Given the description of an element on the screen output the (x, y) to click on. 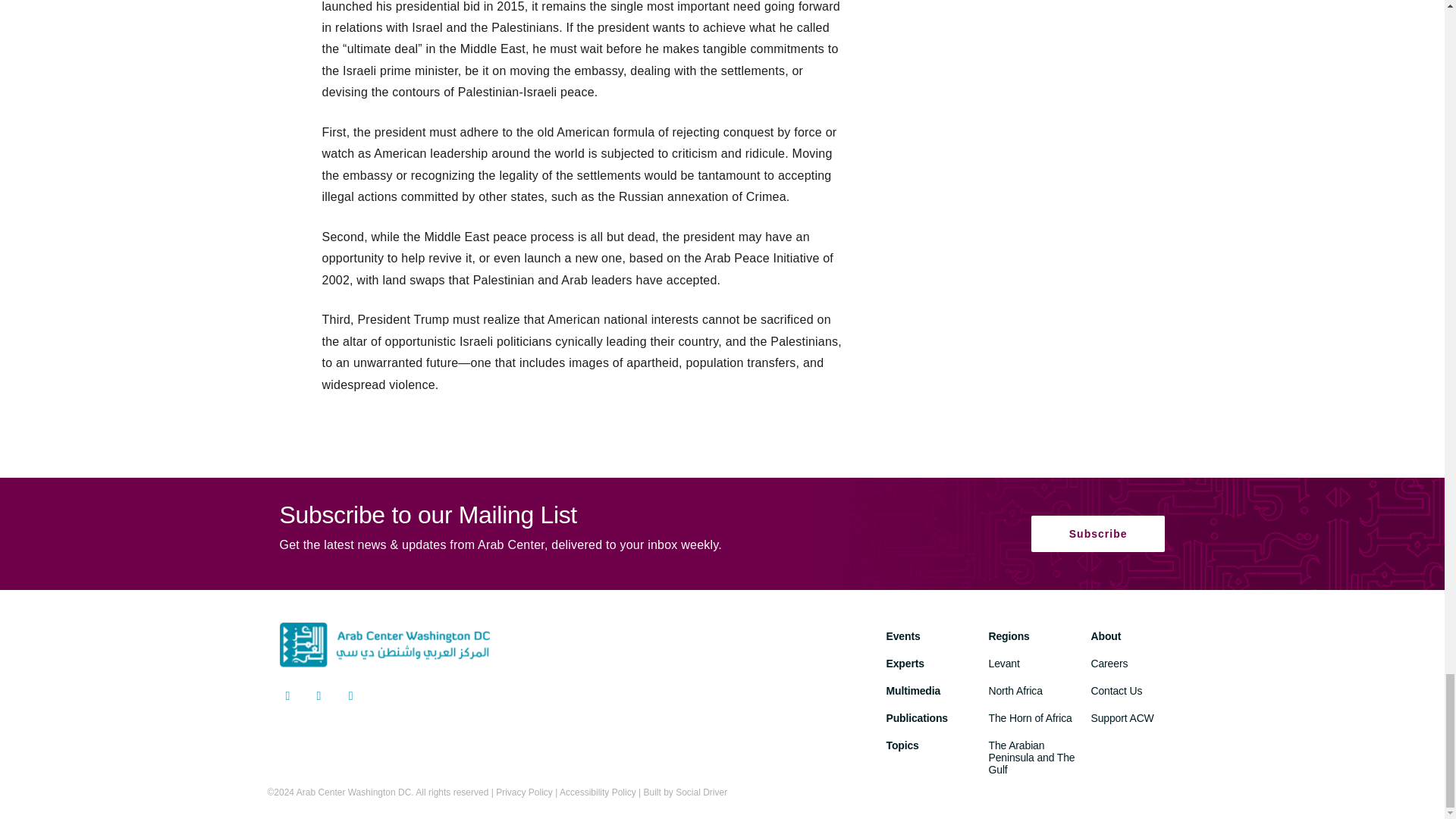
Social Driver Website (700, 792)
Go to Arab Center Washington DC Facebook Profile. (319, 698)
Go to Arab Center Washington DC Twitter Channel. (287, 698)
Go to Arab Center Washington DC YouTube Channel. (350, 698)
